Given the description of an element on the screen output the (x, y) to click on. 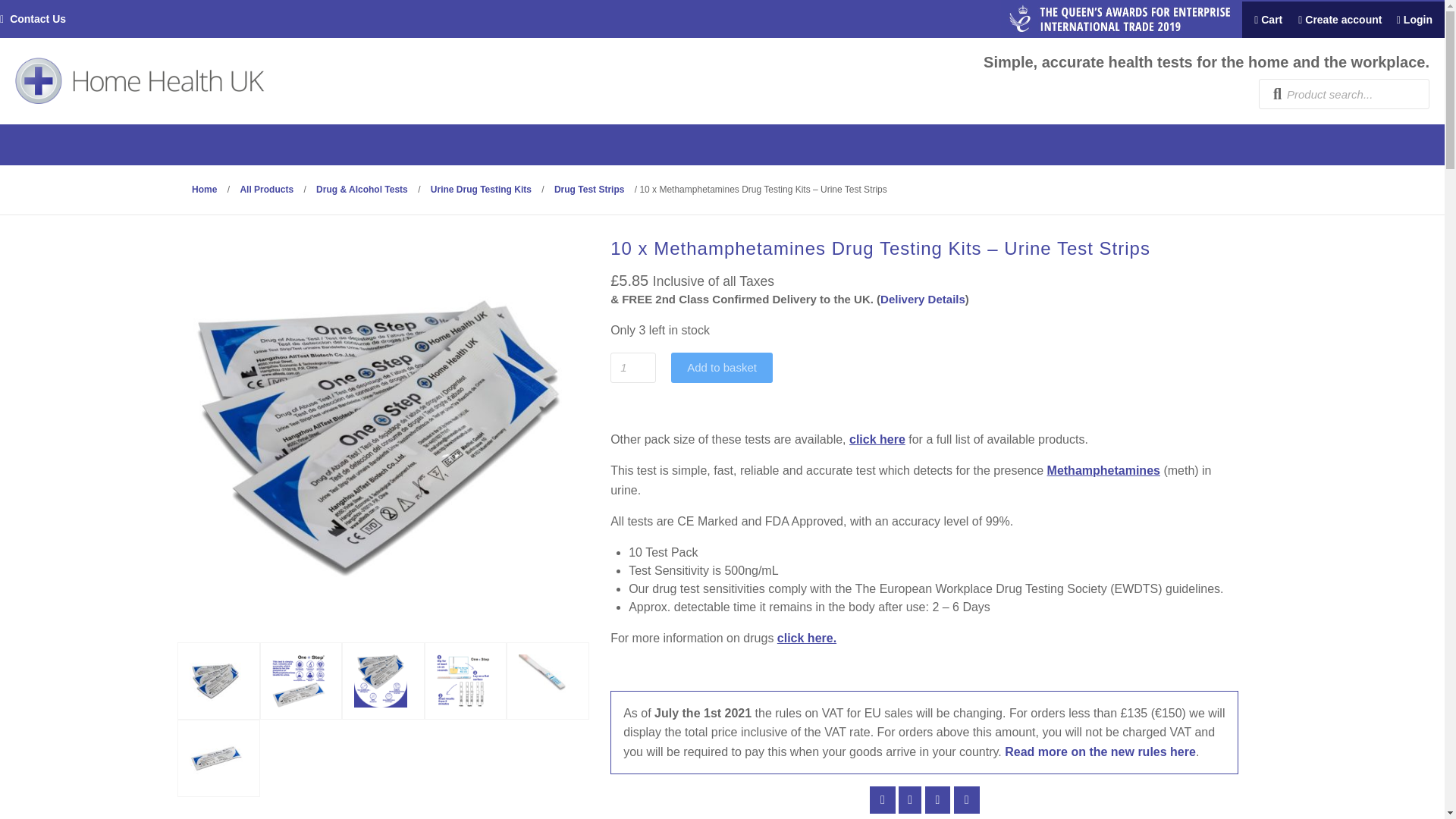
Contact Us (37, 19)
1 (633, 367)
Cart (1263, 19)
